Given the description of an element on the screen output the (x, y) to click on. 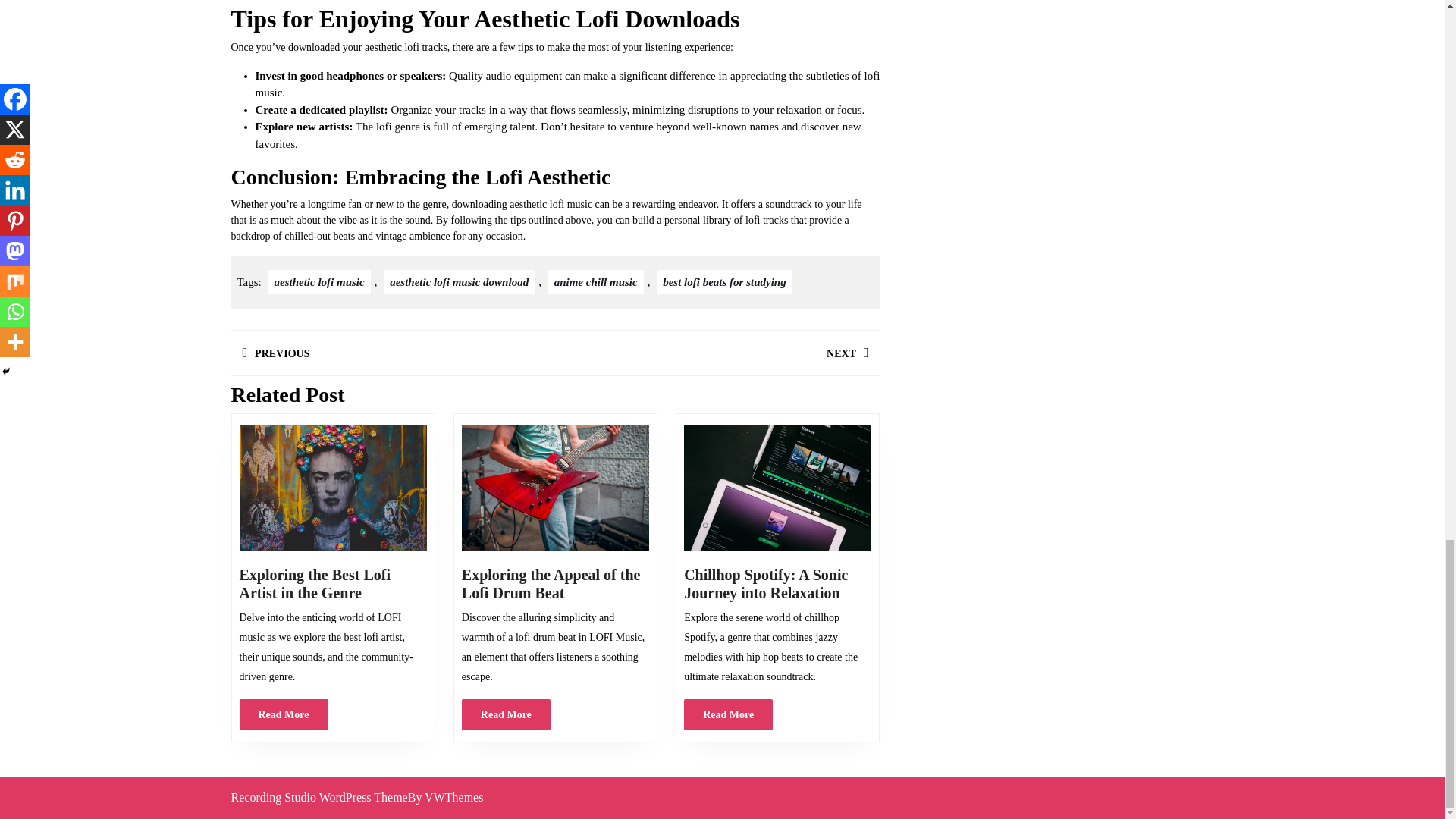
anime chill music (284, 714)
aesthetic lofi music download (595, 282)
Exploring the Best Lofi Artist in the Genre (459, 282)
aesthetic lofi music (333, 487)
Exploring the Appeal of the Lofi Drum Beat (716, 352)
best lofi beats for studying (319, 282)
Chillhop Spotify: A Sonic Journey into Relaxation (555, 487)
